Given the description of an element on the screen output the (x, y) to click on. 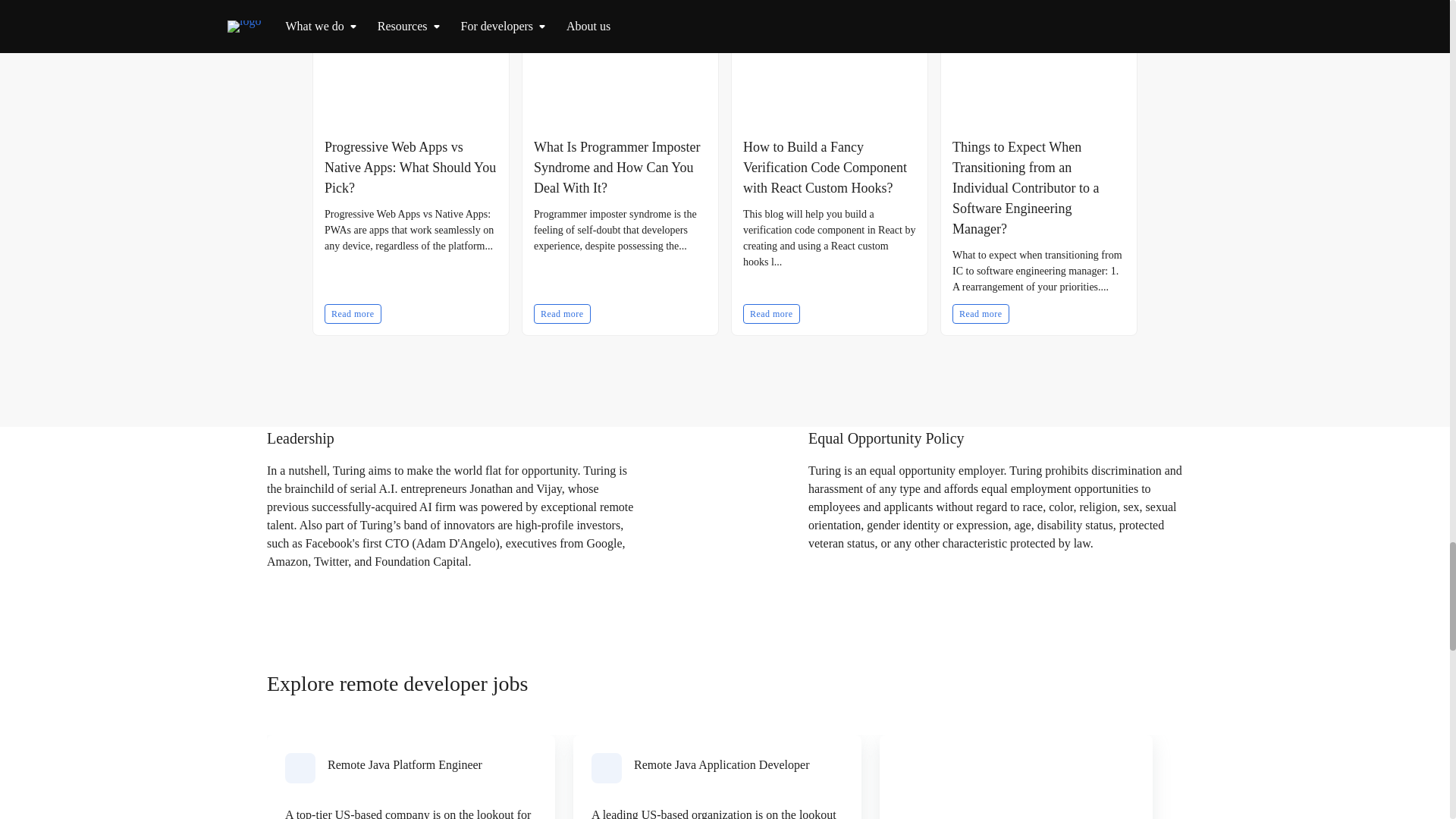
Read more (770, 313)
Read more (352, 313)
Read more (562, 313)
Read more (980, 313)
